Given the description of an element on the screen output the (x, y) to click on. 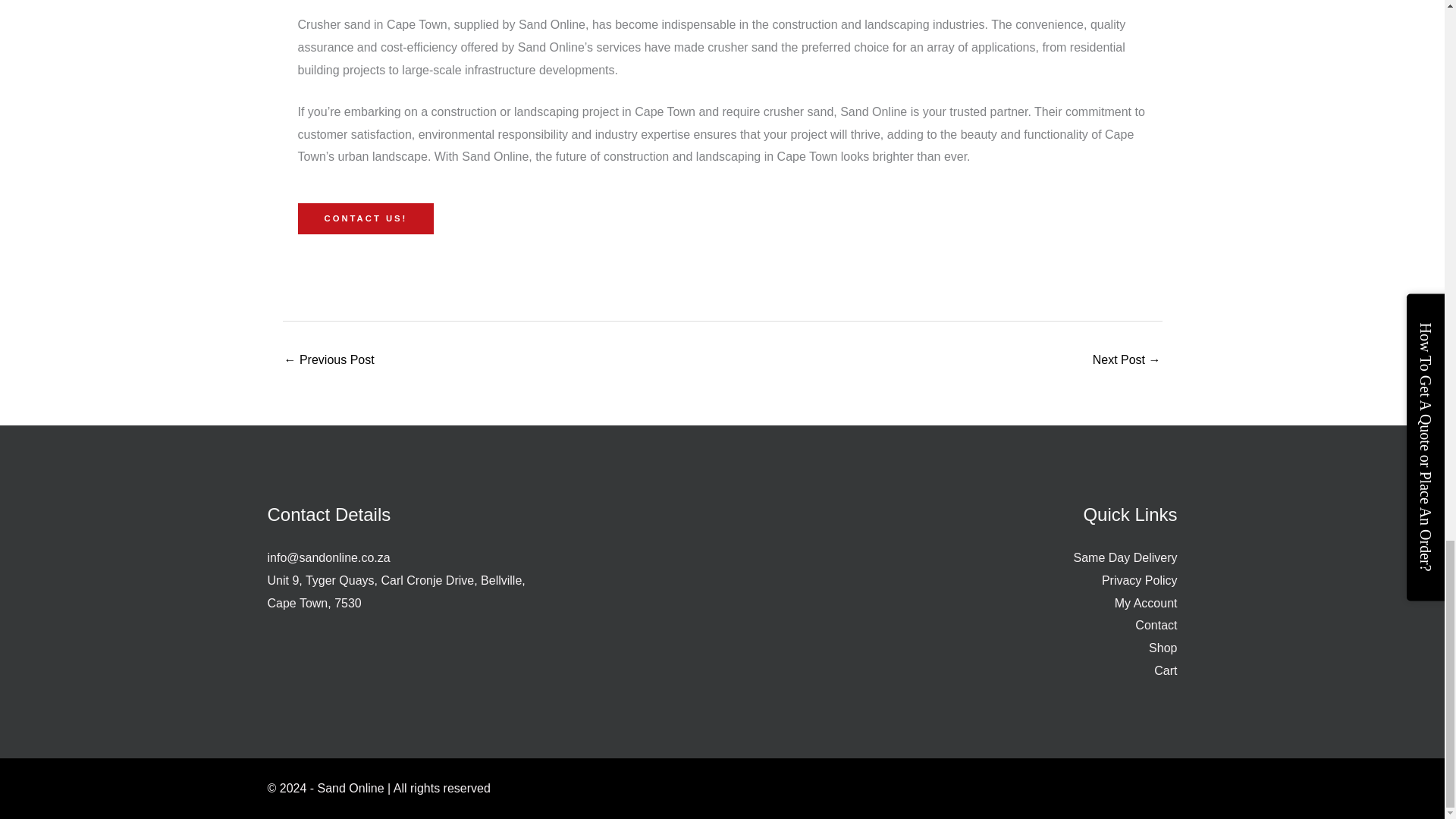
Bulk Crushed Stone Suppliers in Cape Town (1126, 361)
CONTACT US! (365, 218)
